Given the description of an element on the screen output the (x, y) to click on. 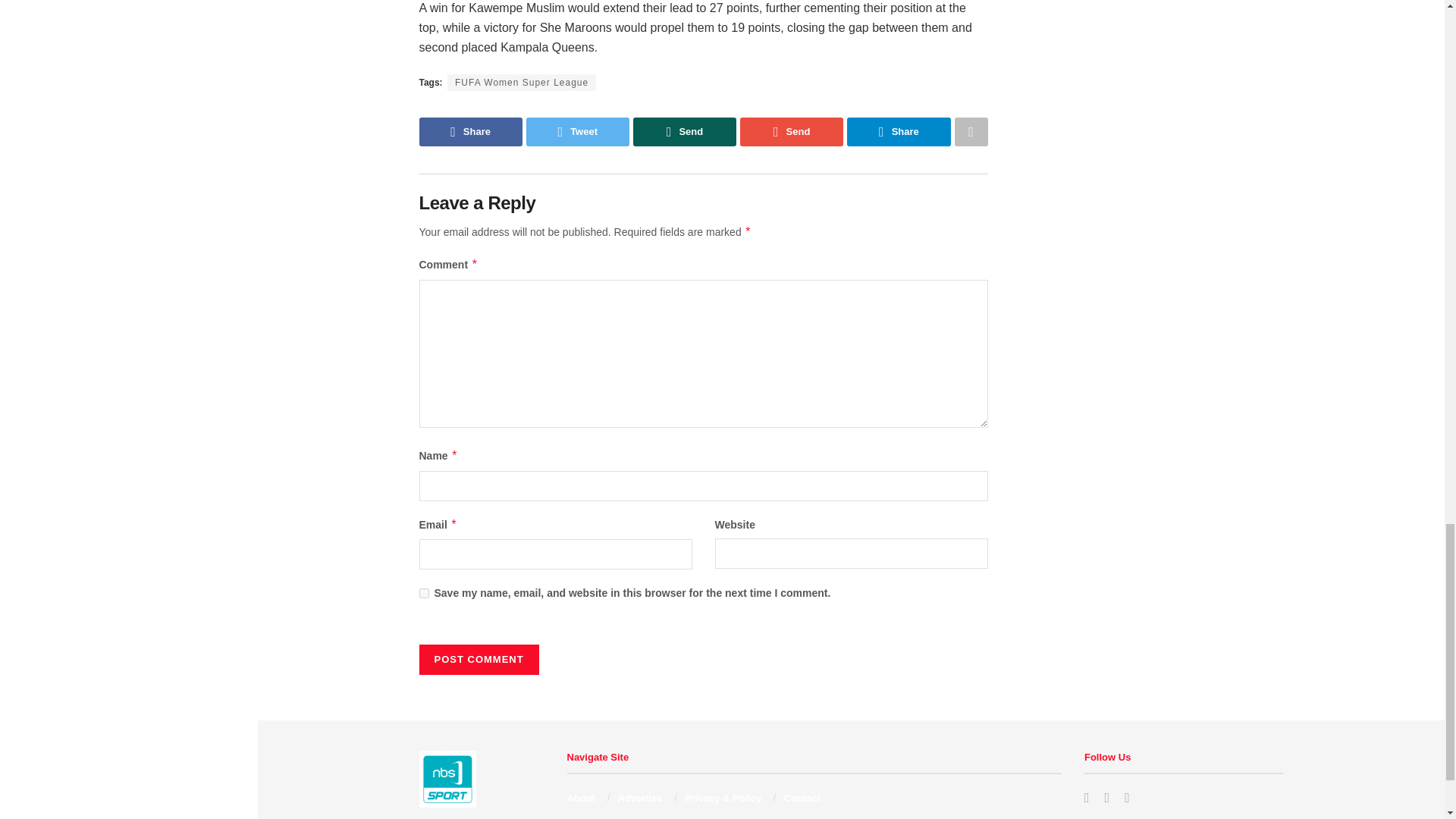
yes (423, 593)
Post Comment (478, 659)
